Given the description of an element on the screen output the (x, y) to click on. 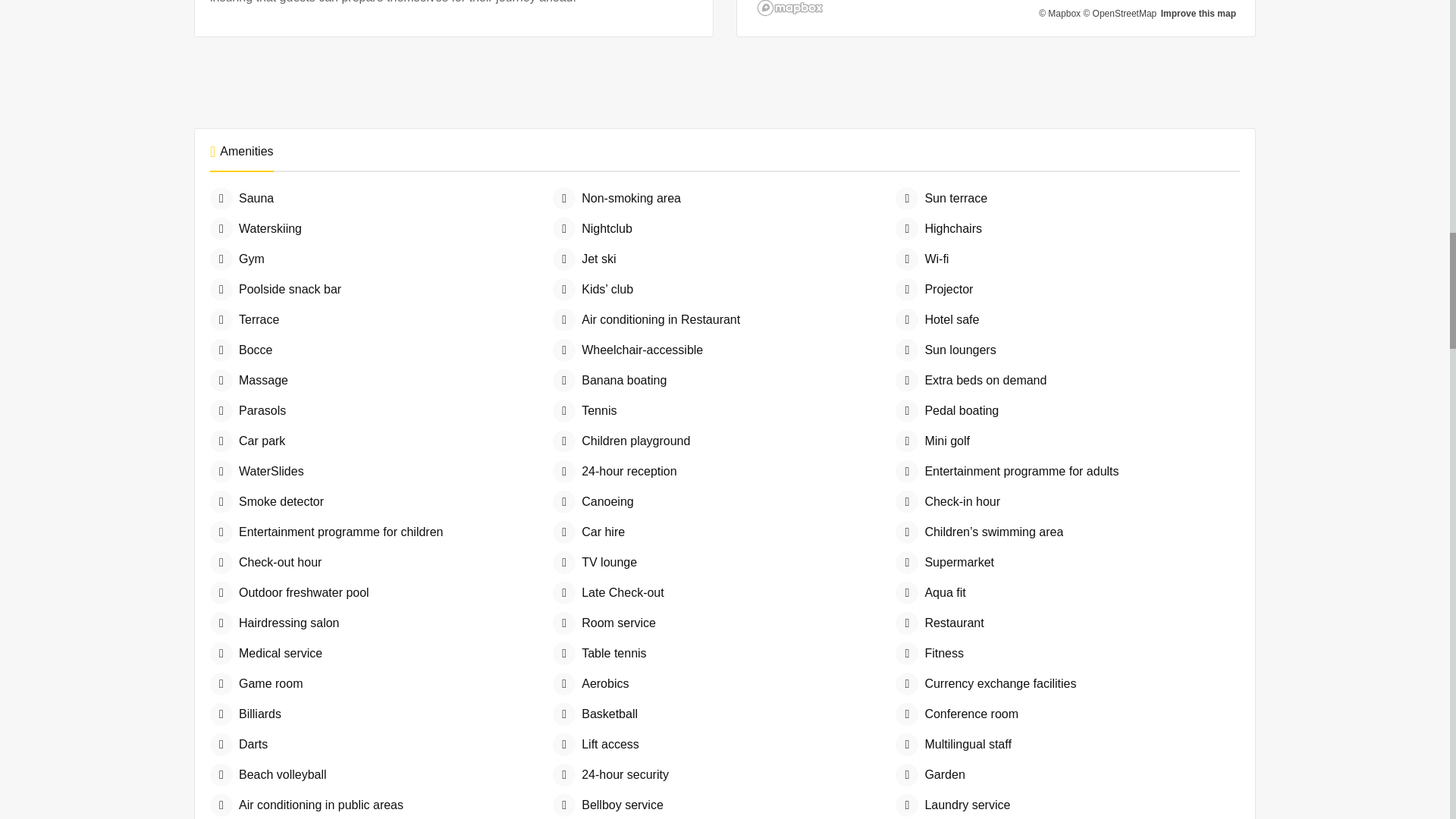
OpenStreetMap (1119, 13)
Improve this map (1198, 13)
Mapbox (1059, 13)
